Given the description of an element on the screen output the (x, y) to click on. 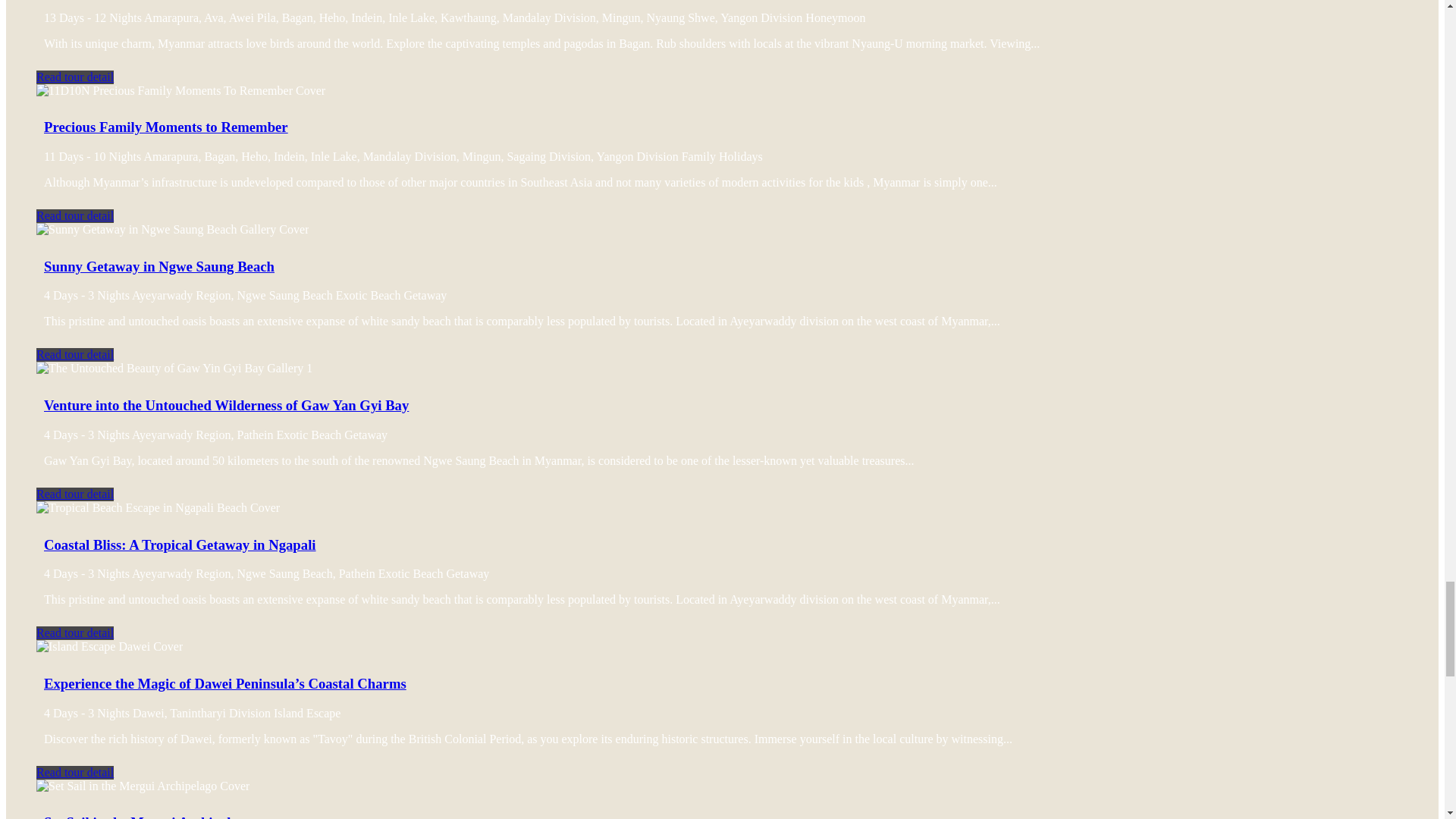
Island Escape Dawei Cover (109, 646)
11D10N Precious Family Moments To Remember Cover (180, 90)
Set Sail in the Mergui Archipelago Cover (142, 786)
Tropical Beach Escape in Ngapali Beach Cover (157, 508)
The Untouched Beauty of Gaw Yin Gyi Bay Gallery 1 (174, 368)
Sunny Getaway in Ngwe Saung Beach Gallery Cover (172, 229)
